Given the description of an element on the screen output the (x, y) to click on. 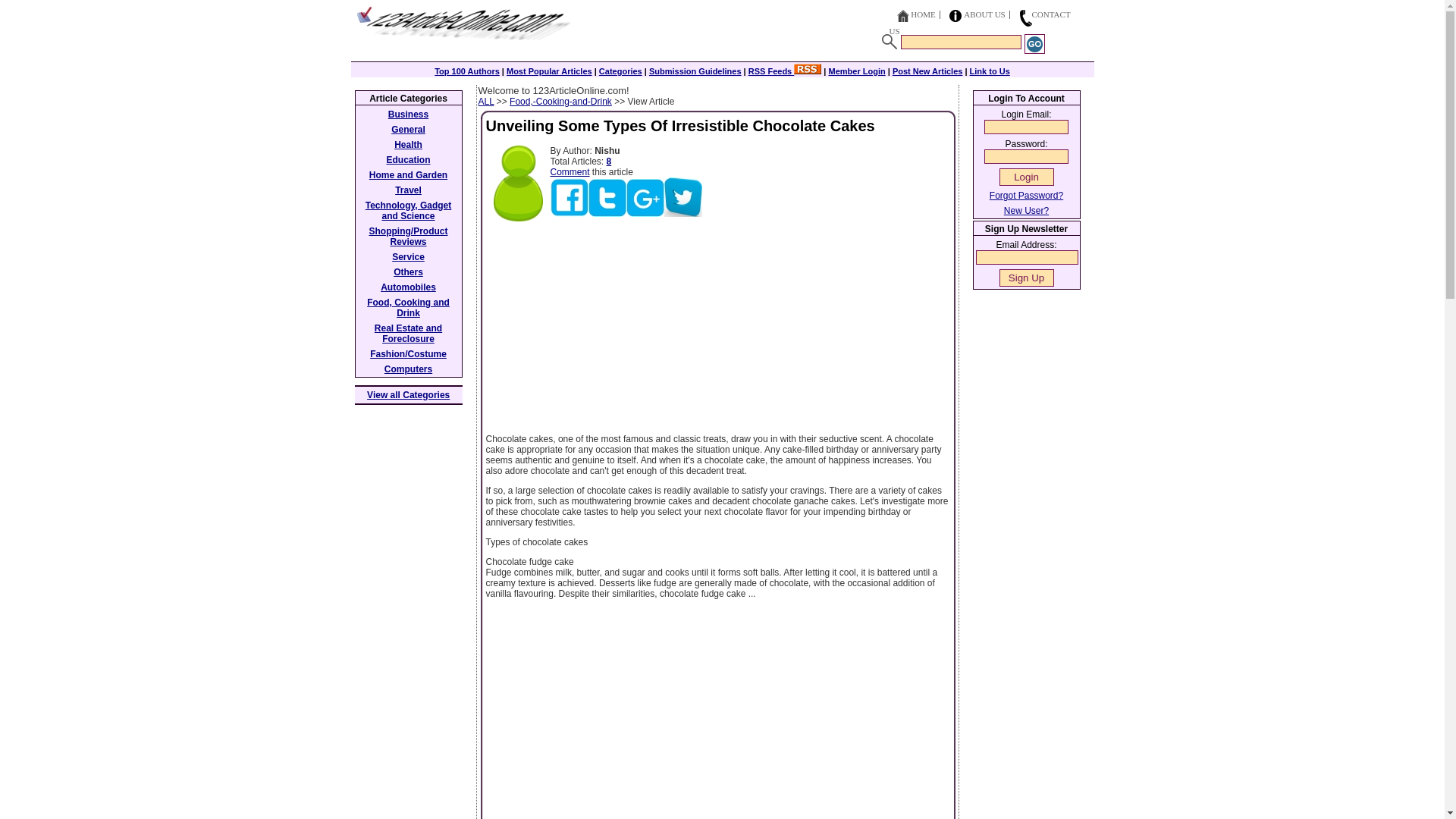
Comment (569, 172)
Food,-Cooking-and-Drink (560, 101)
Most Popular Articles (549, 71)
ALL (485, 101)
Submission Guidelines (695, 71)
Categories (620, 71)
Top 100 Authors (466, 71)
